Given the description of an element on the screen output the (x, y) to click on. 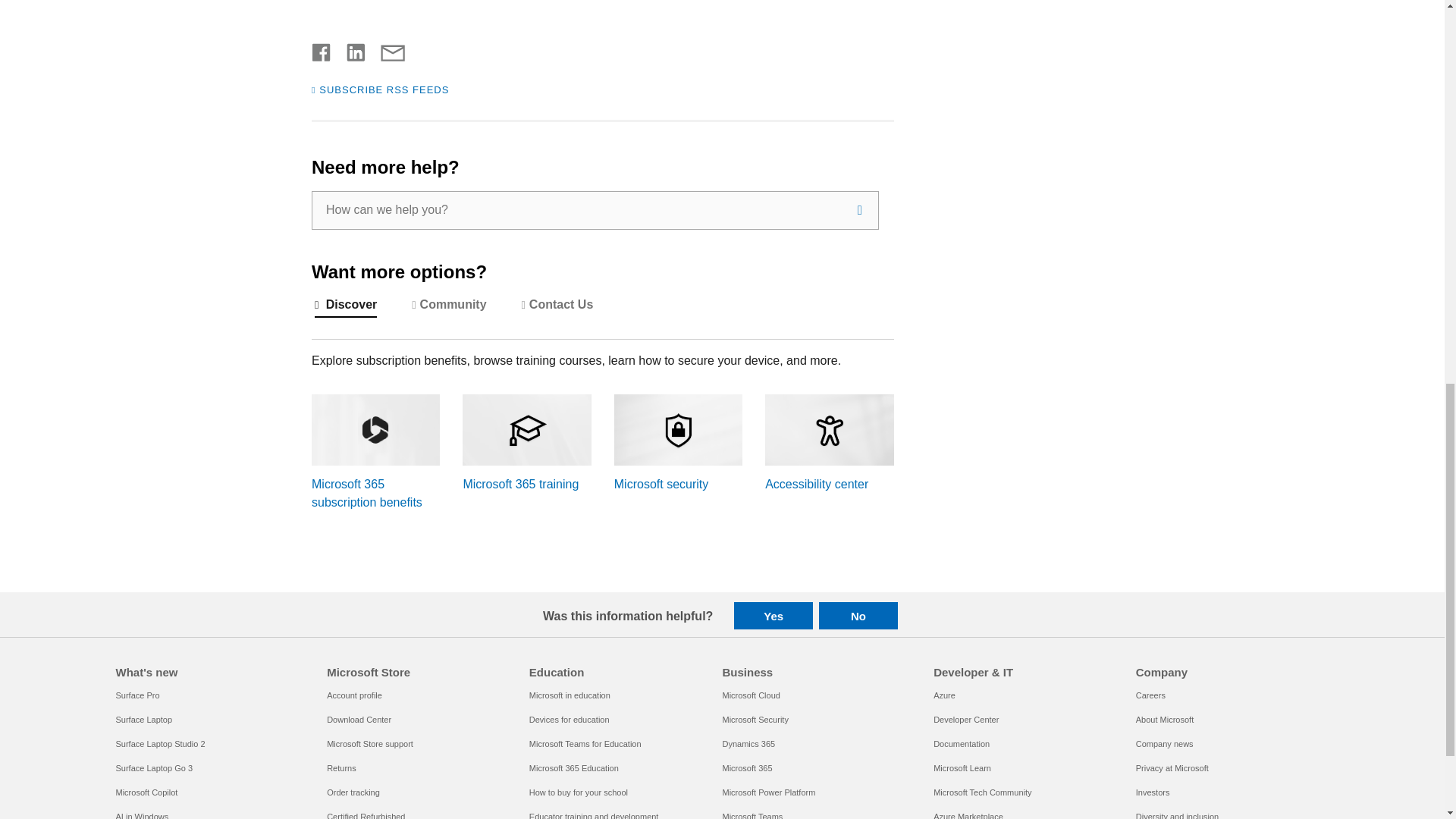
Share on Facebook (322, 49)
Search (860, 210)
Share on LinkedIn (349, 49)
Share by email (385, 49)
